Given the description of an element on the screen output the (x, y) to click on. 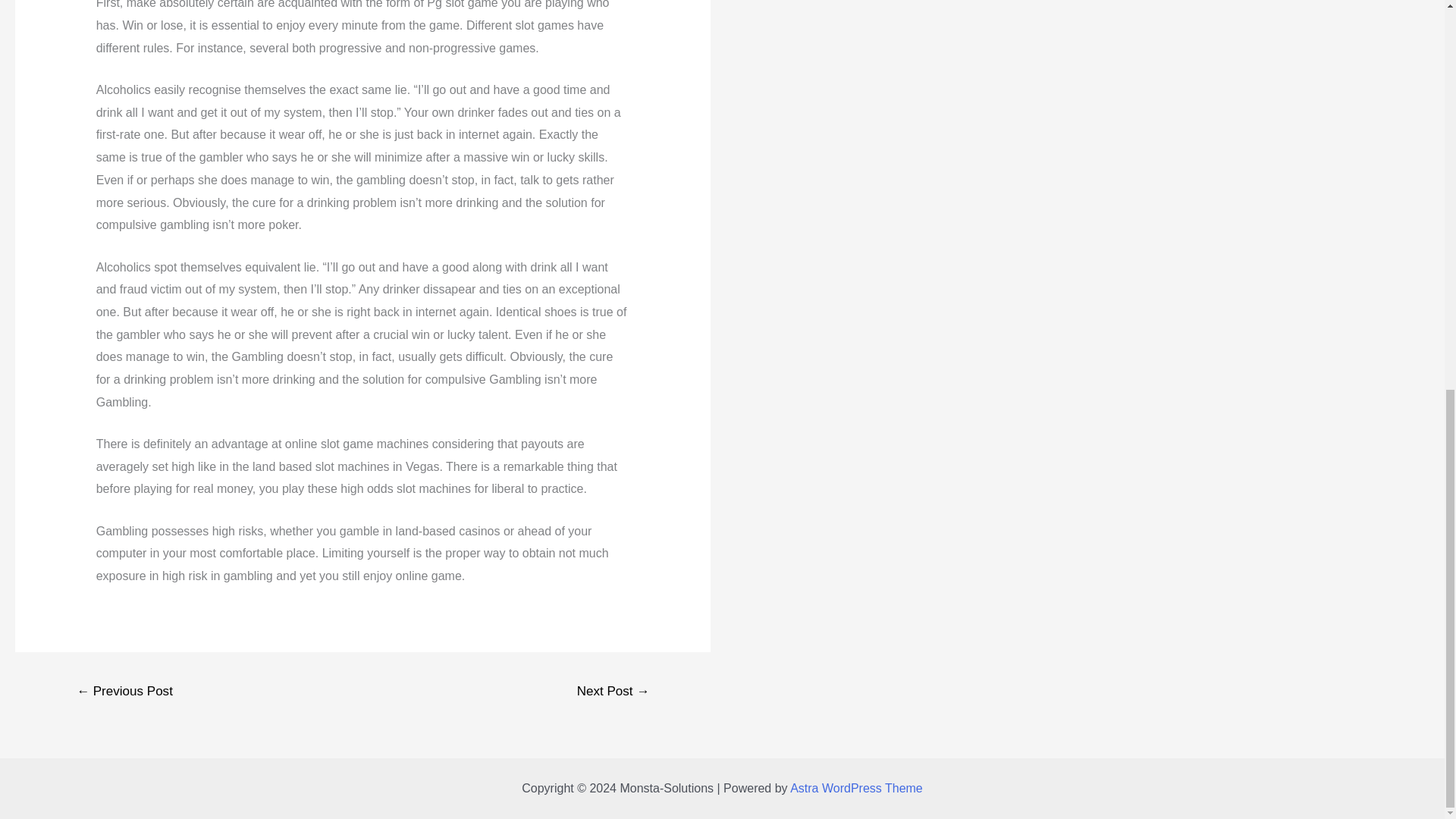
Astra WordPress Theme (856, 788)
